Given the description of an element on the screen output the (x, y) to click on. 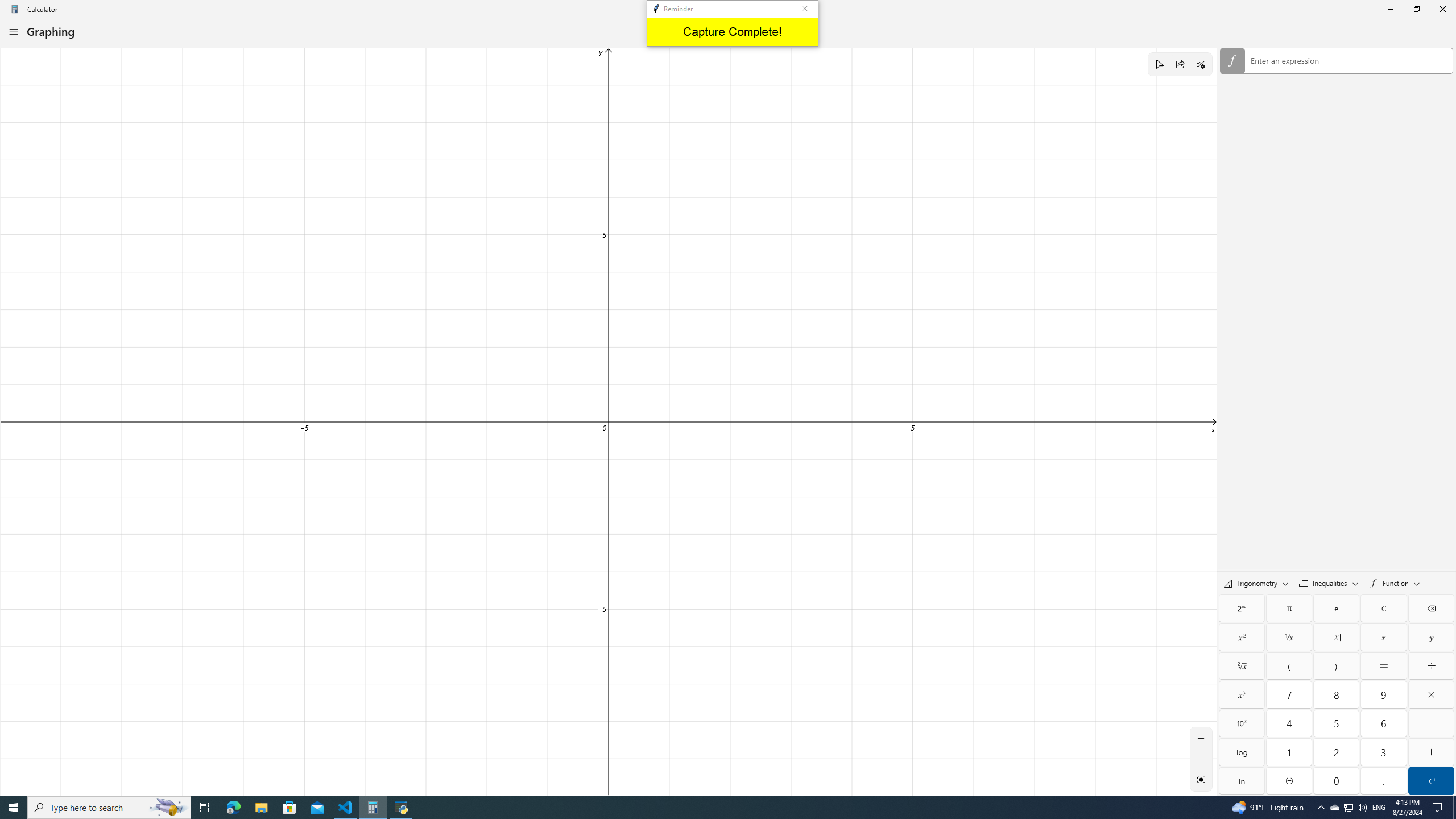
Calculator - 1 running window (373, 807)
Hide equation 1 (1232, 60)
Six (1382, 723)
Trigonometry (1256, 582)
Eight (1336, 694)
Inequalities (1329, 582)
X (1382, 637)
Backspace (1430, 608)
Pi (1288, 608)
Nine (1382, 694)
